Given the description of an element on the screen output the (x, y) to click on. 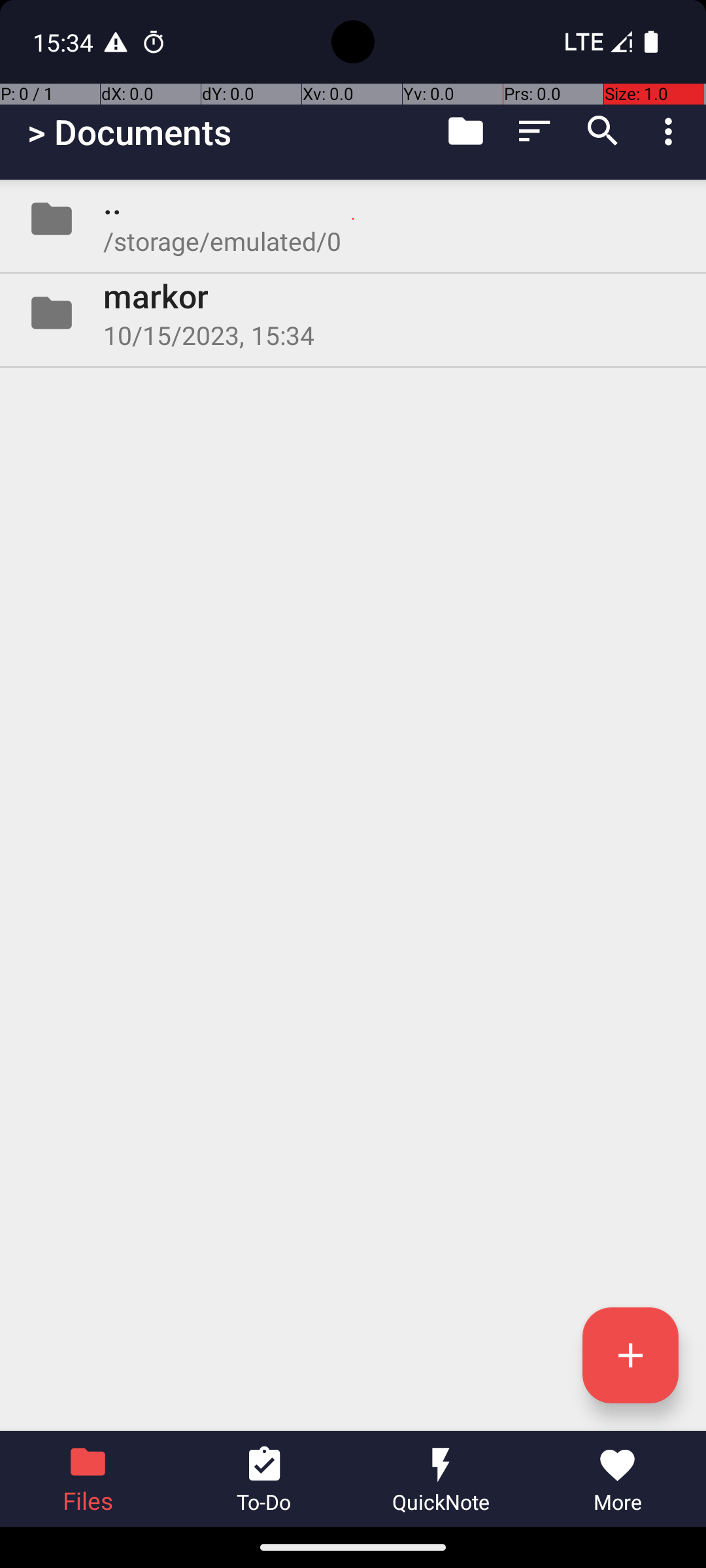
> Documents Element type: android.widget.TextView (129, 131)
Folder .. /storage/emulated/0/Documents Element type: android.widget.LinearLayout (353, 218)
Folder markor  Element type: android.widget.LinearLayout (353, 312)
